Given the description of an element on the screen output the (x, y) to click on. 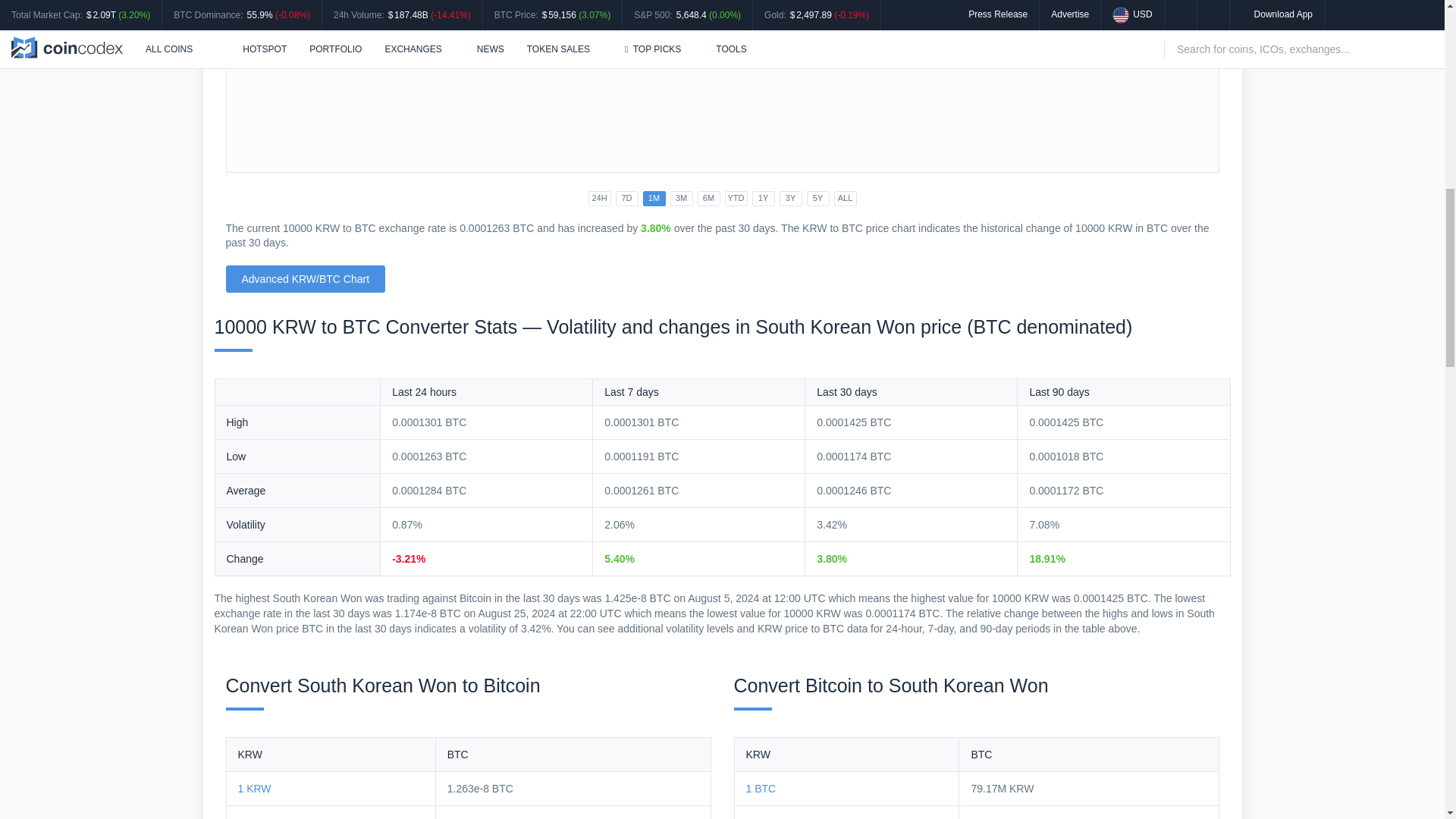
1 BTC (760, 788)
1 KRW (254, 788)
5 KRW (254, 817)
5 BTC (760, 817)
